Given the description of an element on the screen output the (x, y) to click on. 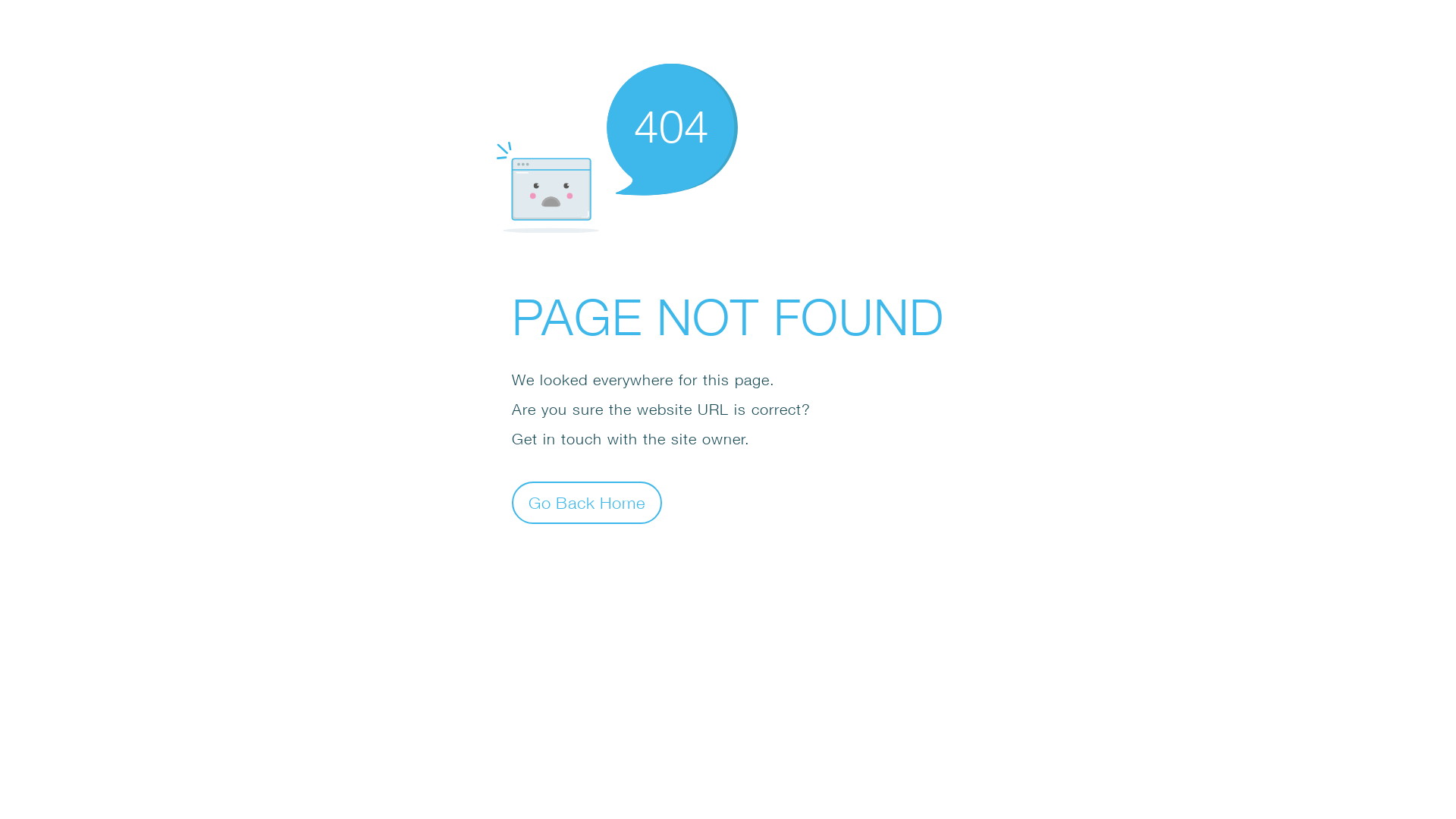
Go Back Home Element type: text (586, 502)
